Given the description of an element on the screen output the (x, y) to click on. 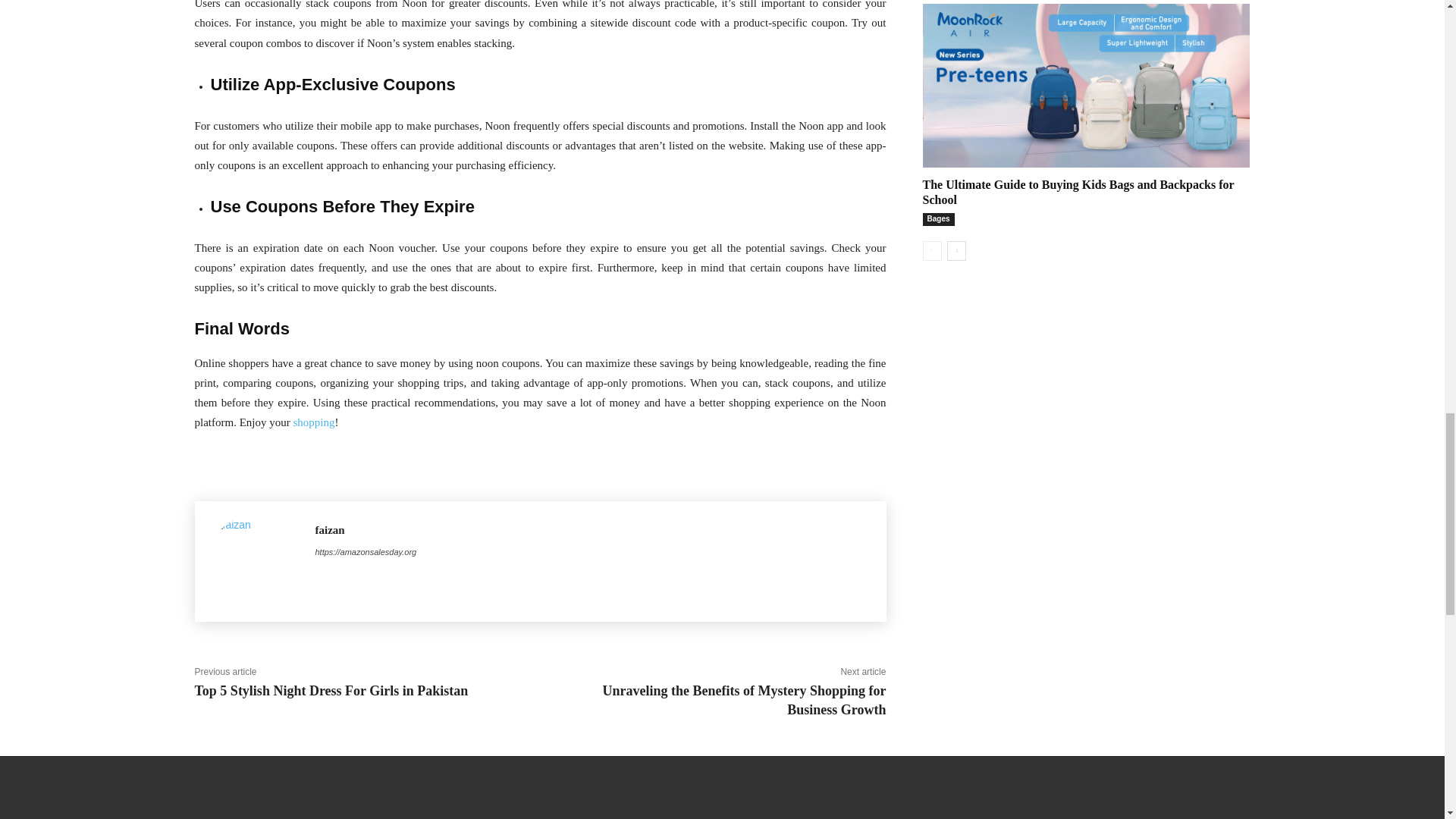
shopping (313, 422)
Top 5 Stylish Night Dress For Girls in Pakistan (330, 690)
faizan (255, 561)
faizan (365, 530)
